Given the description of an element on the screen output the (x, y) to click on. 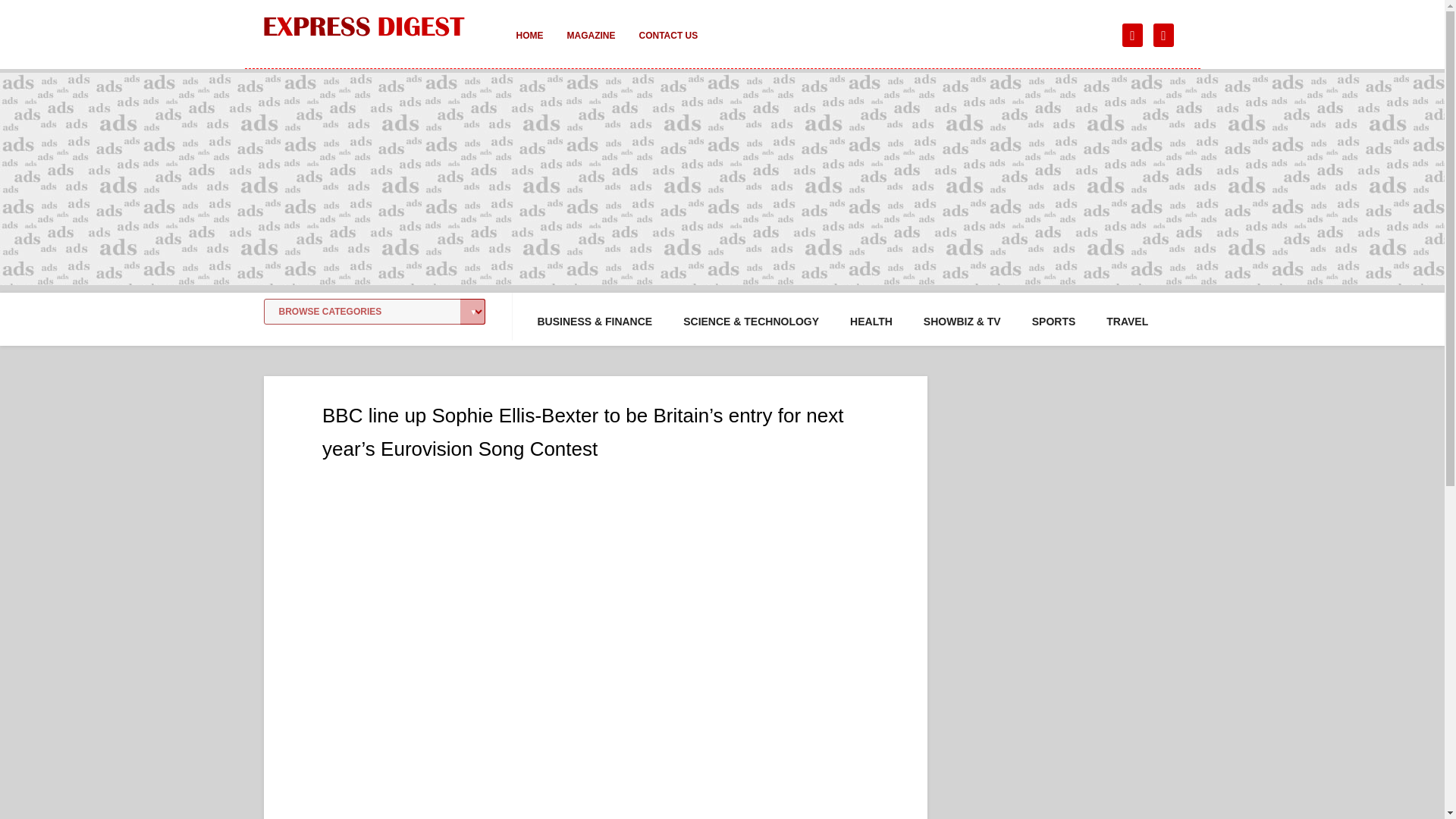
MAGAZINE (590, 45)
TRAVEL (1127, 321)
CONTACT US (667, 45)
SPORTS (1053, 321)
HEALTH (871, 321)
